Given the description of an element on the screen output the (x, y) to click on. 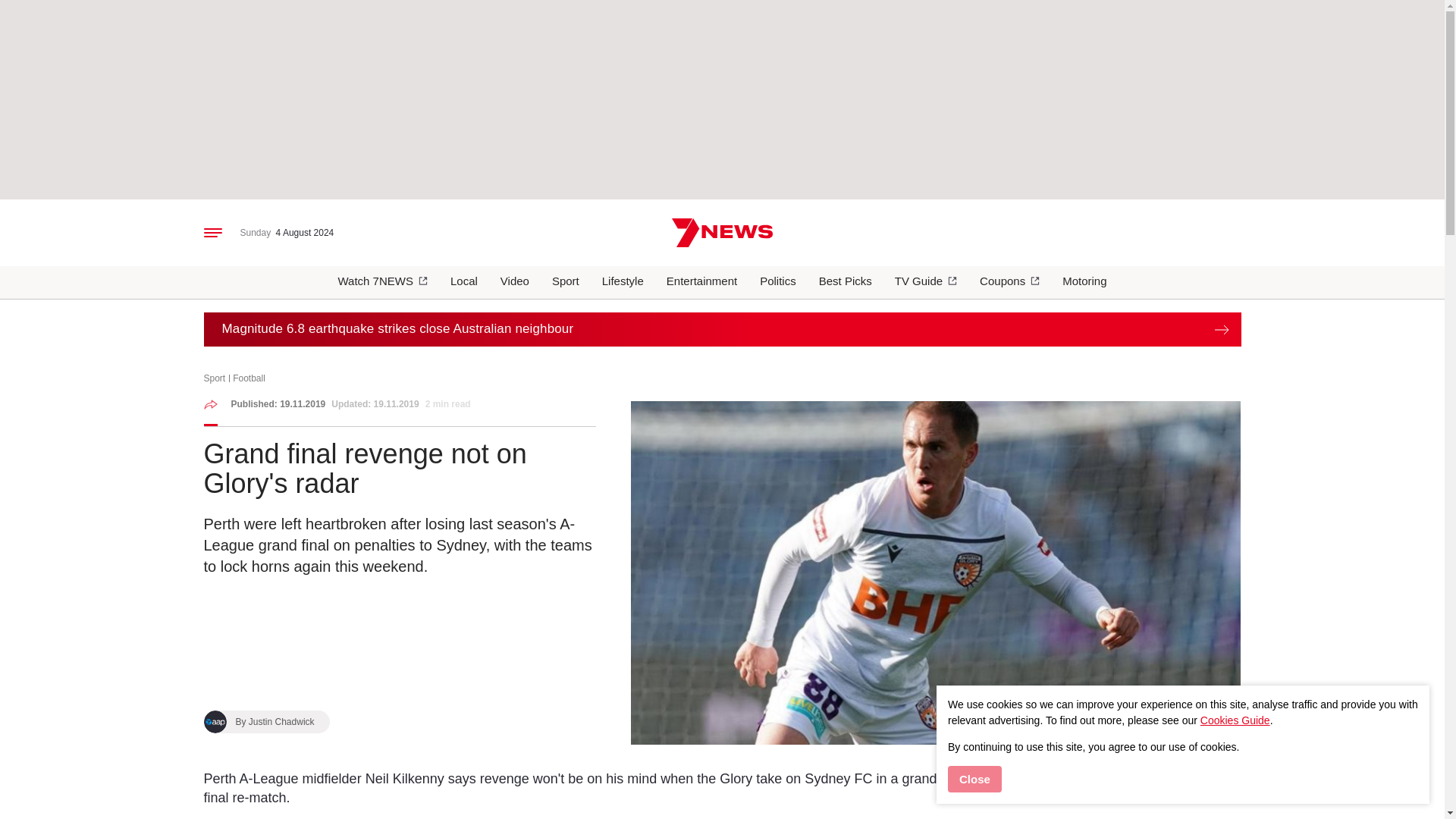
Click to open navigation (212, 232)
